Given the description of an element on the screen output the (x, y) to click on. 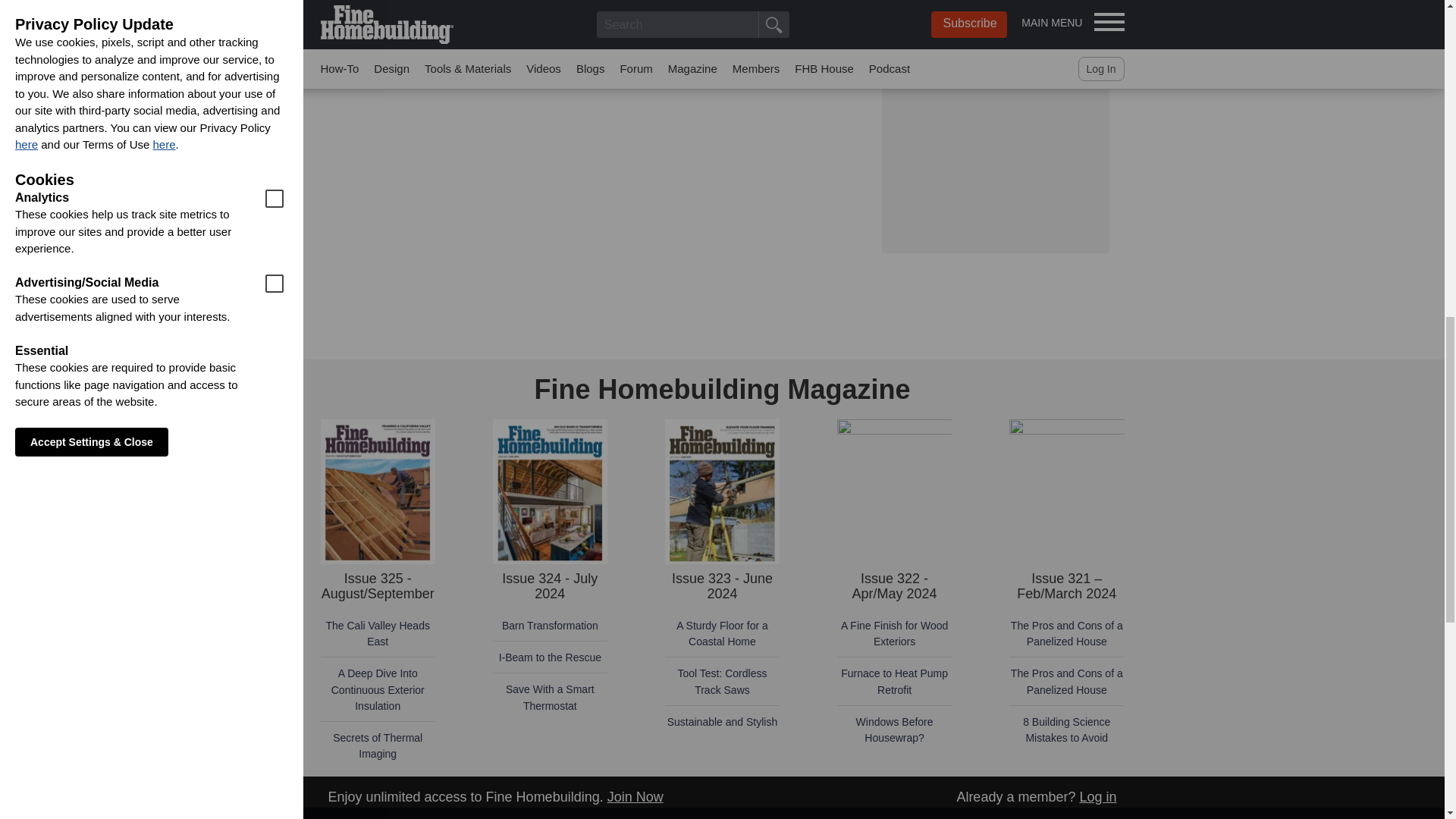
Sustainable and Stylish (721, 721)
A Deep Dive Into Continuous Exterior Insulation (378, 689)
Furnace to Heat Pump Retrofit (894, 681)
Barn Transformation (550, 625)
A Fine Finish for Wood Exteriors (894, 633)
8 Building Science Mistakes to Avoid (1066, 729)
Tool Test: Cordless Track Saws (722, 681)
The Pros and Cons of a Panelized House (1066, 681)
Save With a Smart Thermostat (549, 697)
A Sturdy Floor for a Coastal Home (722, 633)
